Given the description of an element on the screen output the (x, y) to click on. 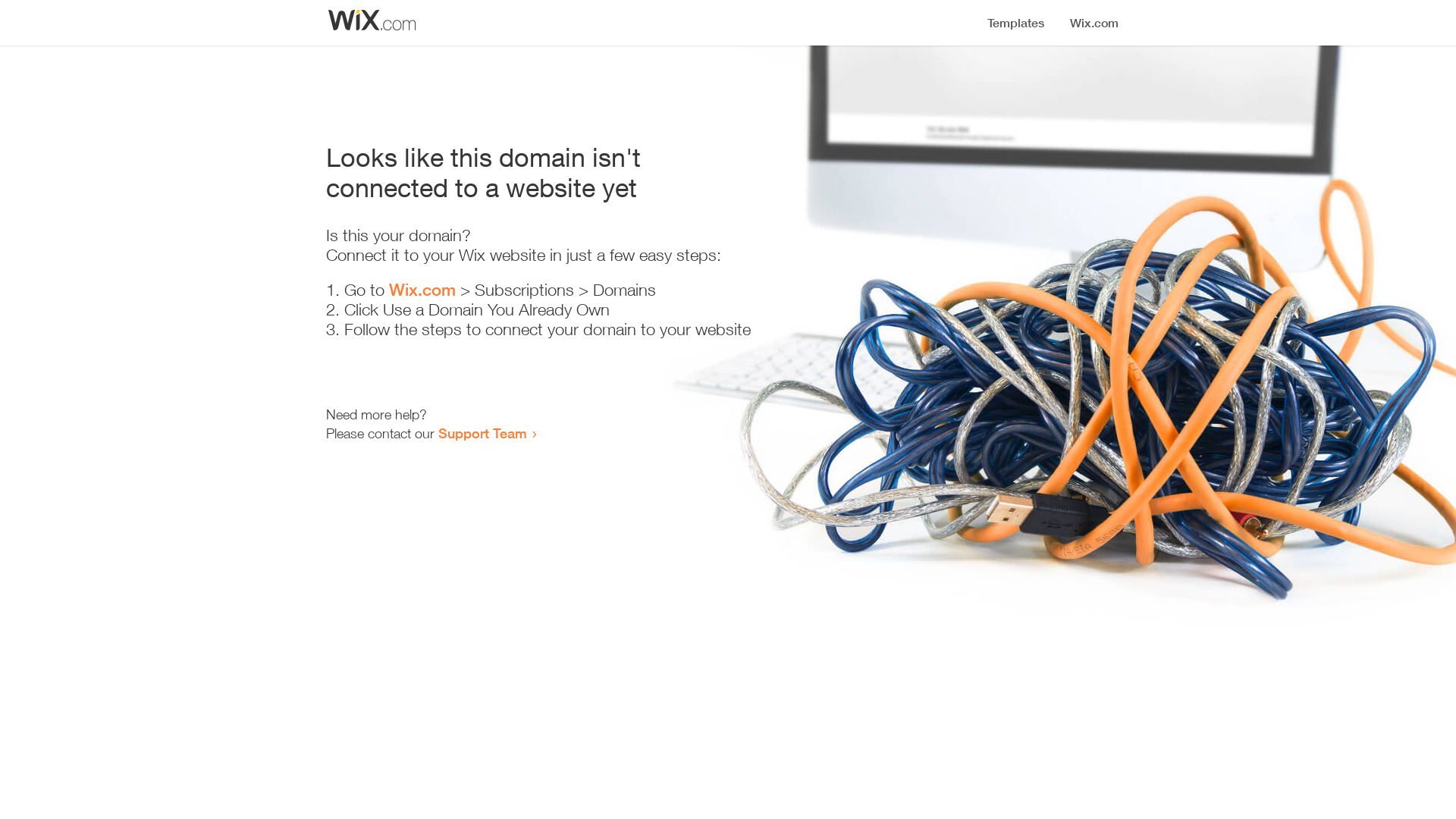
Wix.com Element type: text (422, 289)
Support Team Element type: text (482, 432)
